Given the description of an element on the screen output the (x, y) to click on. 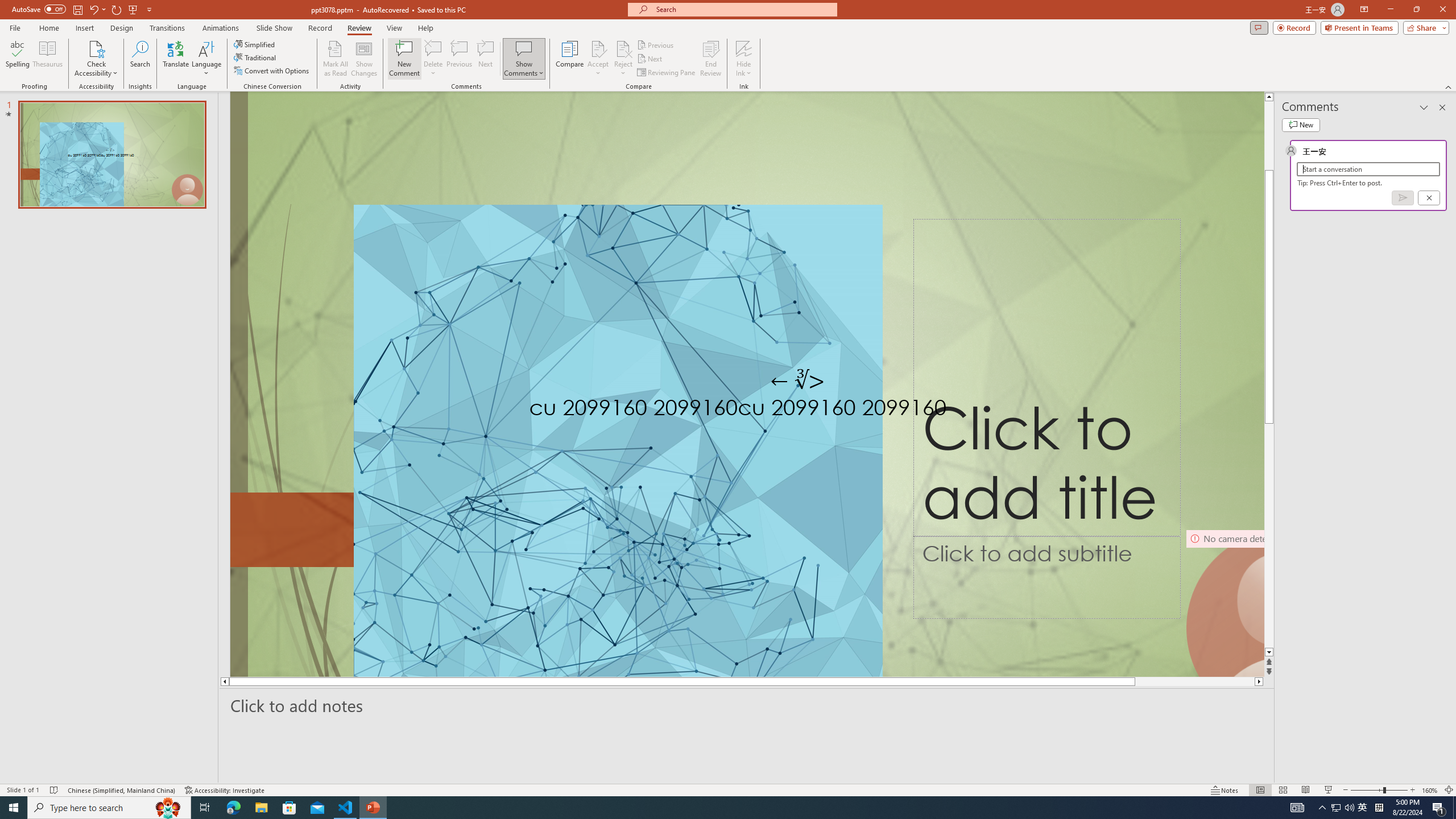
Reject Change (622, 48)
Simplified (254, 44)
Traditional (255, 56)
Thesaurus... (47, 58)
TextBox 7 (797, 380)
